Given the description of an element on the screen output the (x, y) to click on. 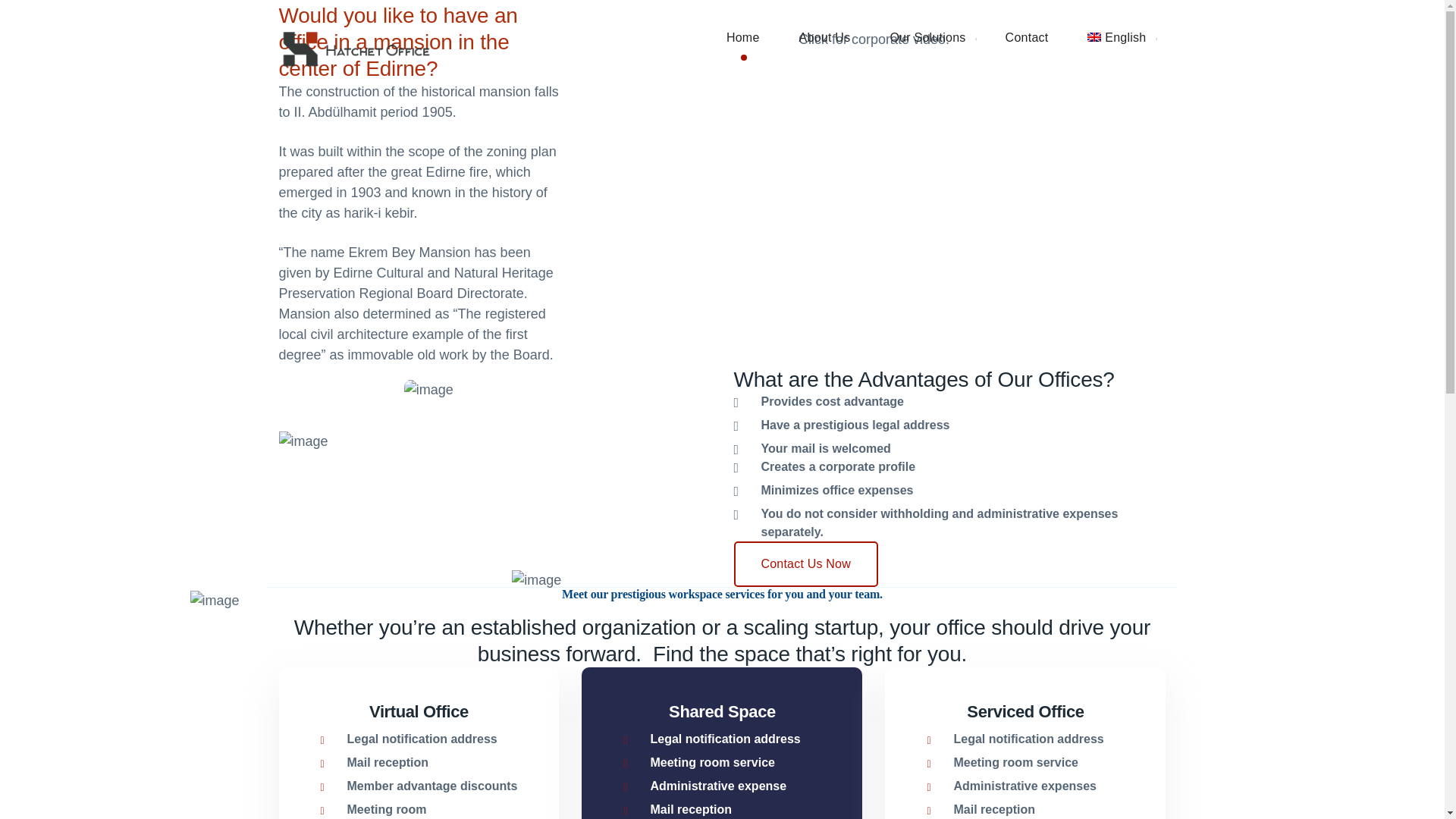
Our Solutions (927, 38)
English (1116, 38)
"letiim" (805, 564)
Contact Us Now (805, 564)
English (1116, 38)
